Given the description of an element on the screen output the (x, y) to click on. 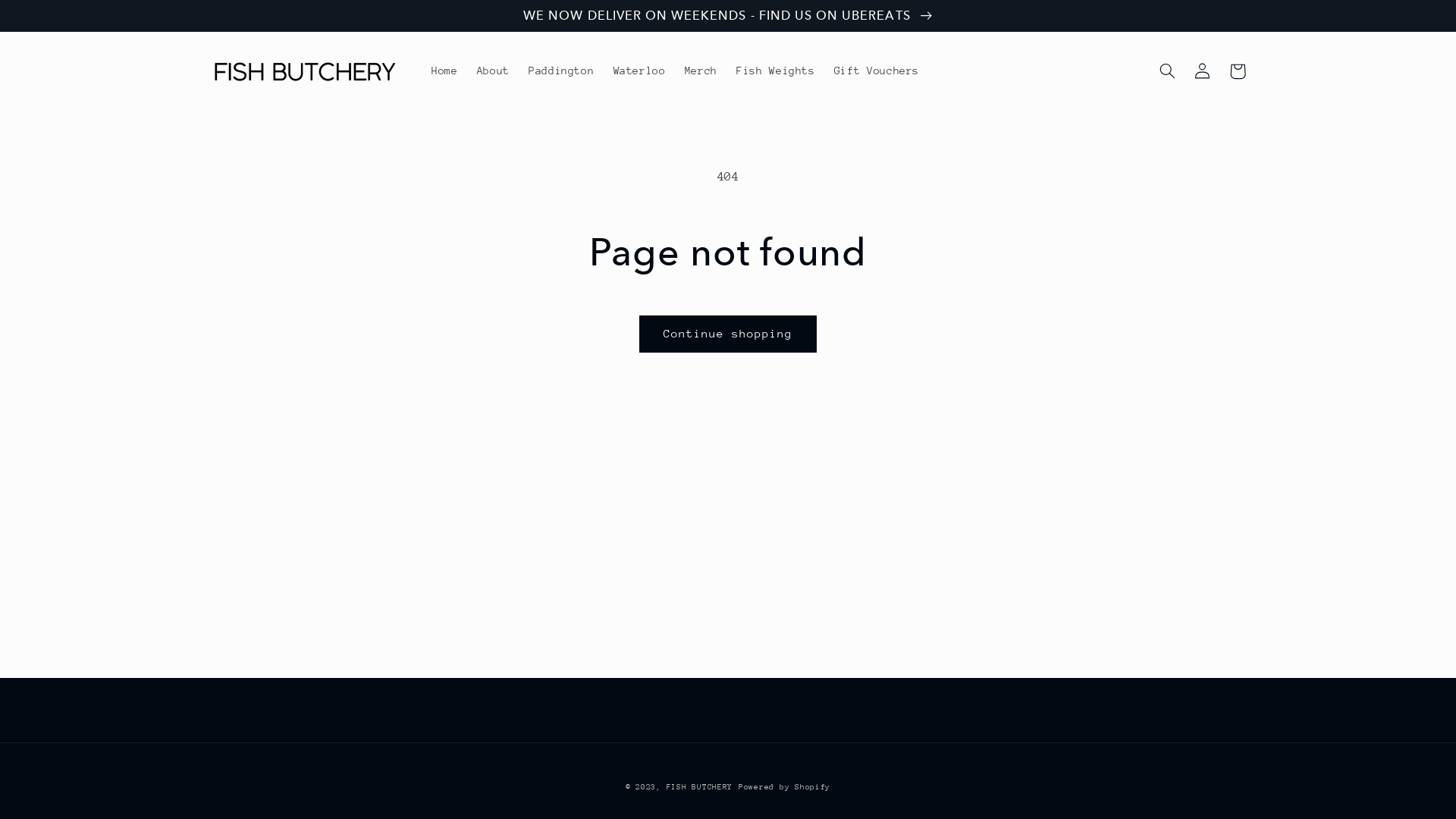
Cart Element type: text (1237, 70)
Home Element type: text (444, 70)
Fish Weights Element type: text (776, 70)
Powered by Shopify Element type: text (784, 786)
Log in Element type: text (1202, 70)
About Element type: text (492, 70)
FISH BUTCHERY Element type: text (699, 786)
Gift Vouchers Element type: text (876, 70)
Merch Element type: text (700, 70)
Paddington Element type: text (560, 70)
Continue shopping Element type: text (727, 333)
Waterloo Element type: text (638, 70)
